Given the description of an element on the screen output the (x, y) to click on. 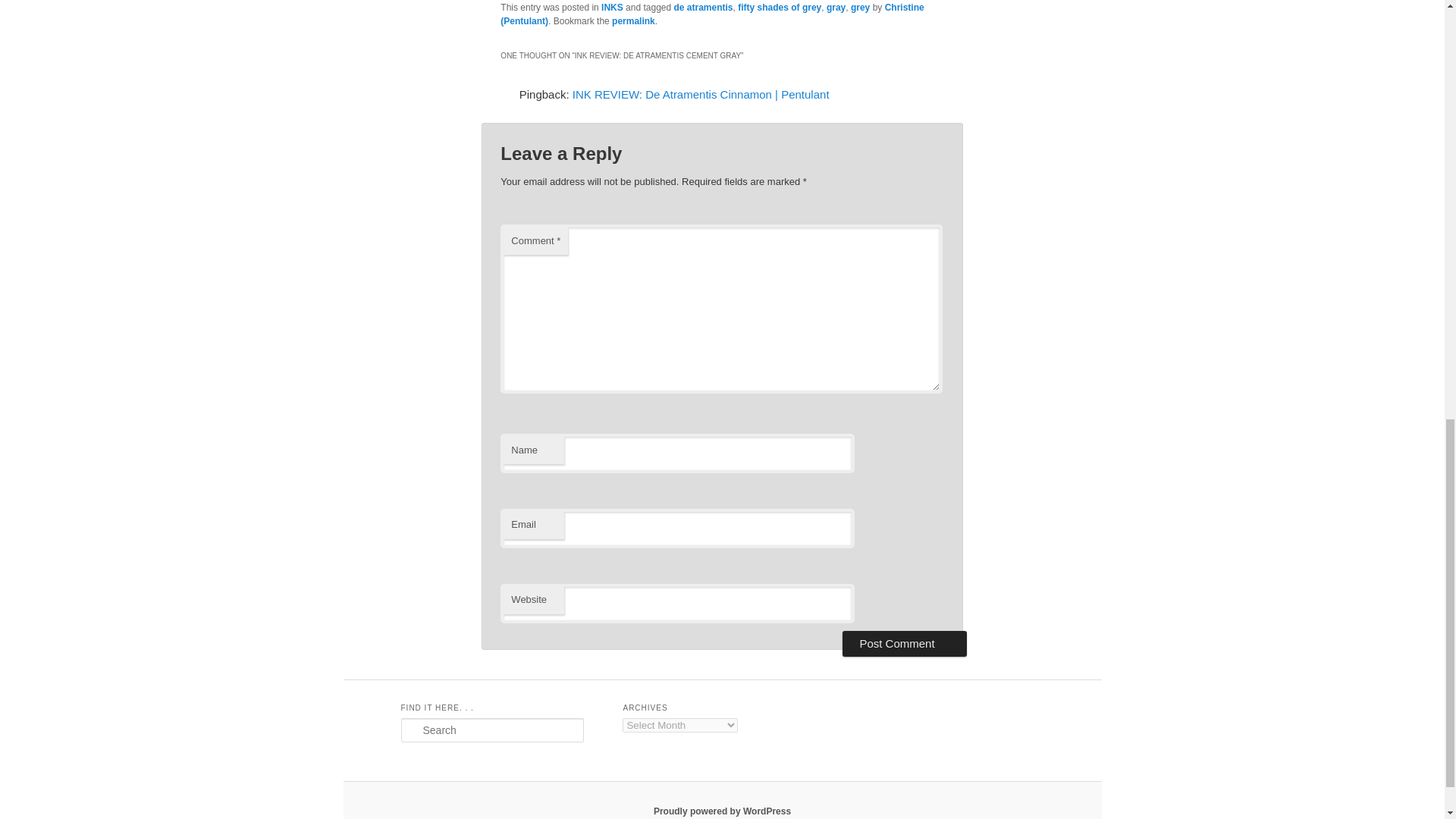
Permalink to INK REVIEW: De Atramentis Cement Gray (633, 20)
Post Comment (904, 642)
fifty shades of grey (779, 7)
permalink (633, 20)
INKS (612, 7)
gray (836, 7)
Post Comment (904, 642)
Proudly powered by WordPress (721, 810)
de atramentis (702, 7)
grey (859, 7)
